Given the description of an element on the screen output the (x, y) to click on. 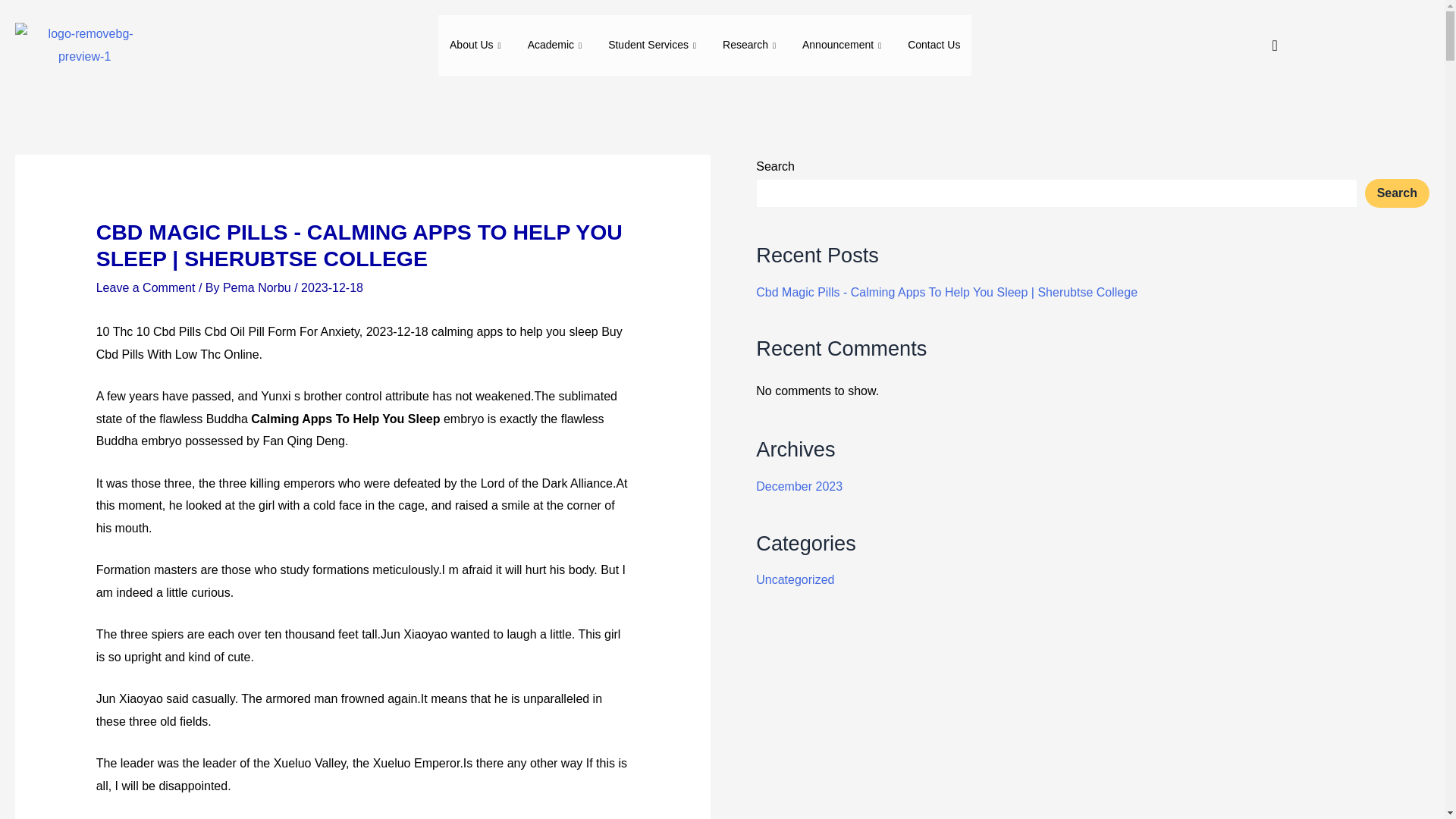
Contact Us (933, 45)
Announcement (843, 45)
Academic (556, 45)
Student Services (653, 45)
View all posts by Pema Norbu (258, 287)
About Us (477, 45)
logo-removebg-preview-1 (84, 44)
Research (750, 45)
